Given the description of an element on the screen output the (x, y) to click on. 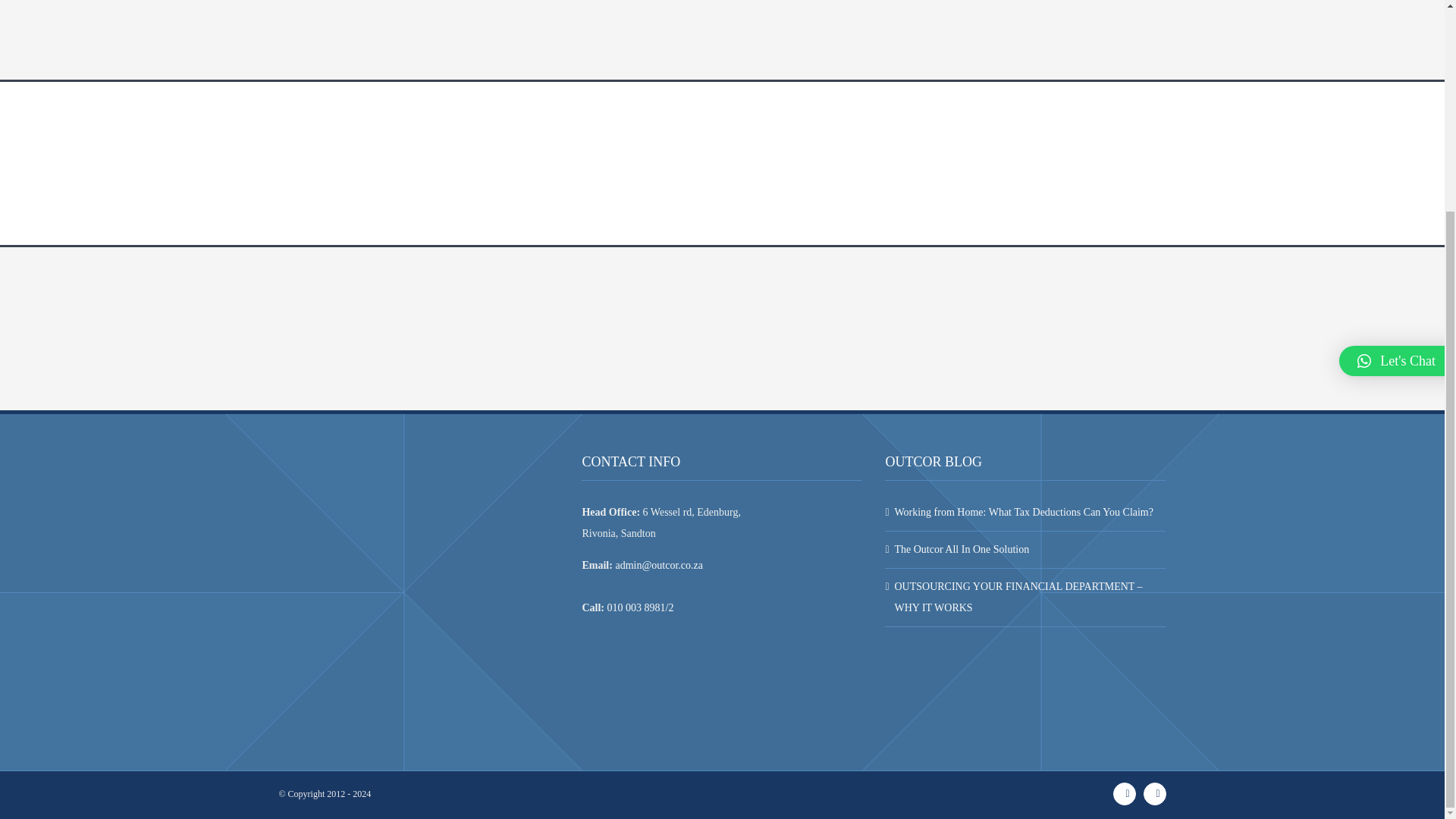
Linkedin (1154, 793)
Working from Home: What Tax Deductions Can You Claim? (1025, 512)
Facebook (1124, 793)
Facebook (1124, 793)
The Outcor All In One Solution (1025, 549)
Linkedin (1154, 793)
